Given the description of an element on the screen output the (x, y) to click on. 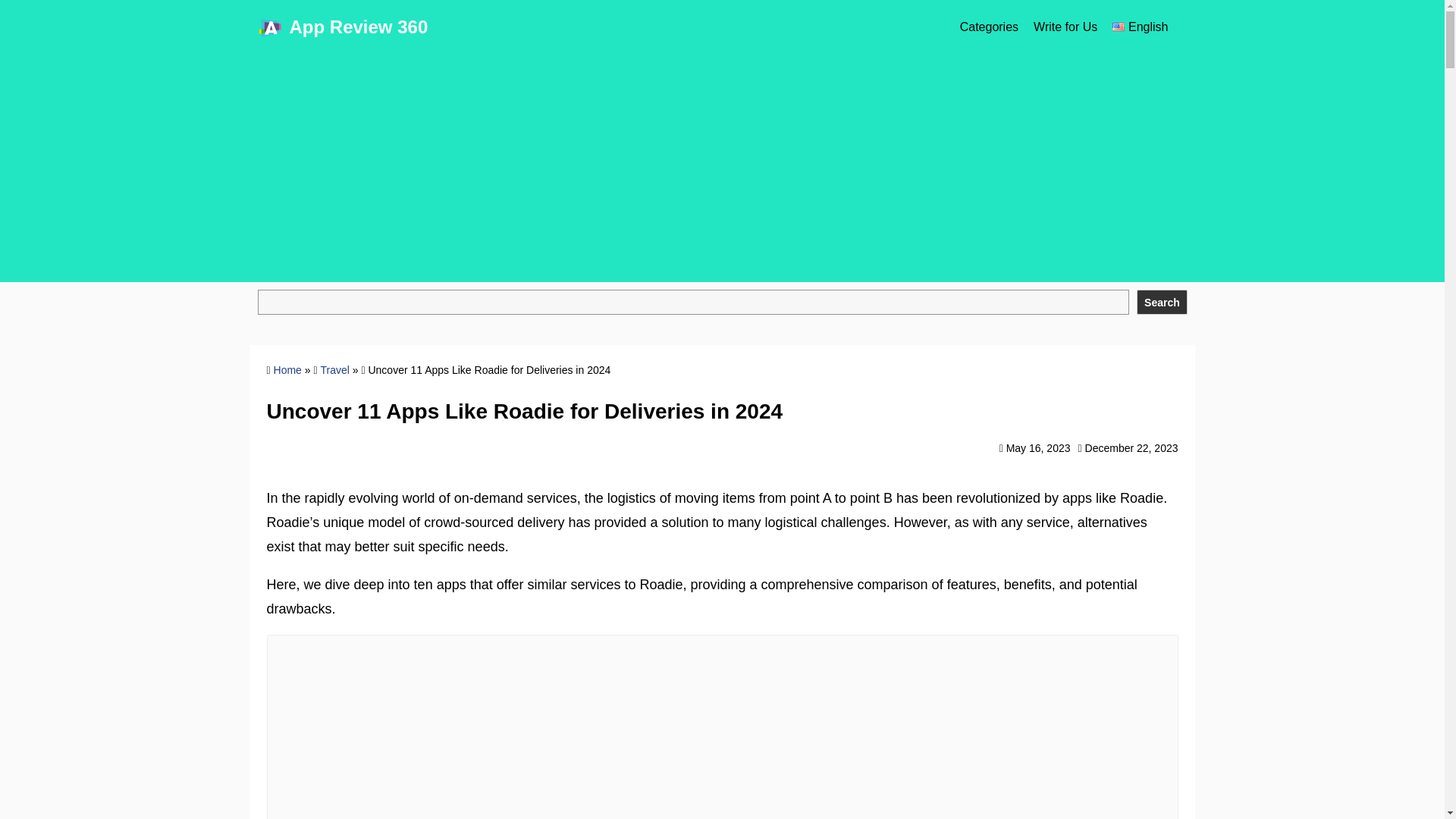
English (1139, 27)
Home (287, 369)
Search (1161, 301)
App Review 360 (358, 26)
Travel (334, 369)
Write for Us (1065, 27)
Categories (988, 27)
